Given the description of an element on the screen output the (x, y) to click on. 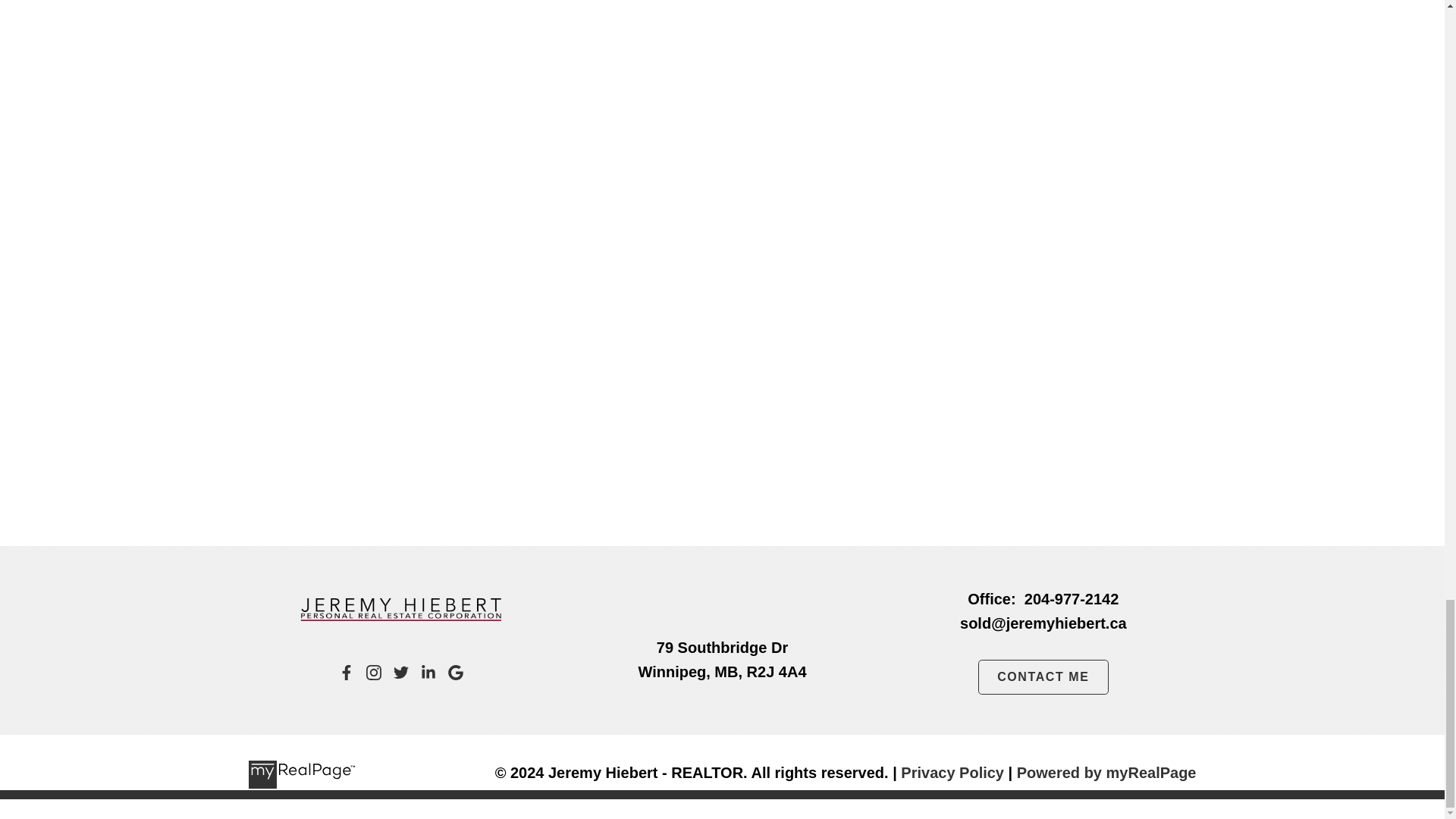
CONTACT ME (1043, 677)
Powered by myRealPage (1106, 772)
Privacy Policy (952, 772)
Office:  204-977-2142 (1042, 598)
